Given the description of an element on the screen output the (x, y) to click on. 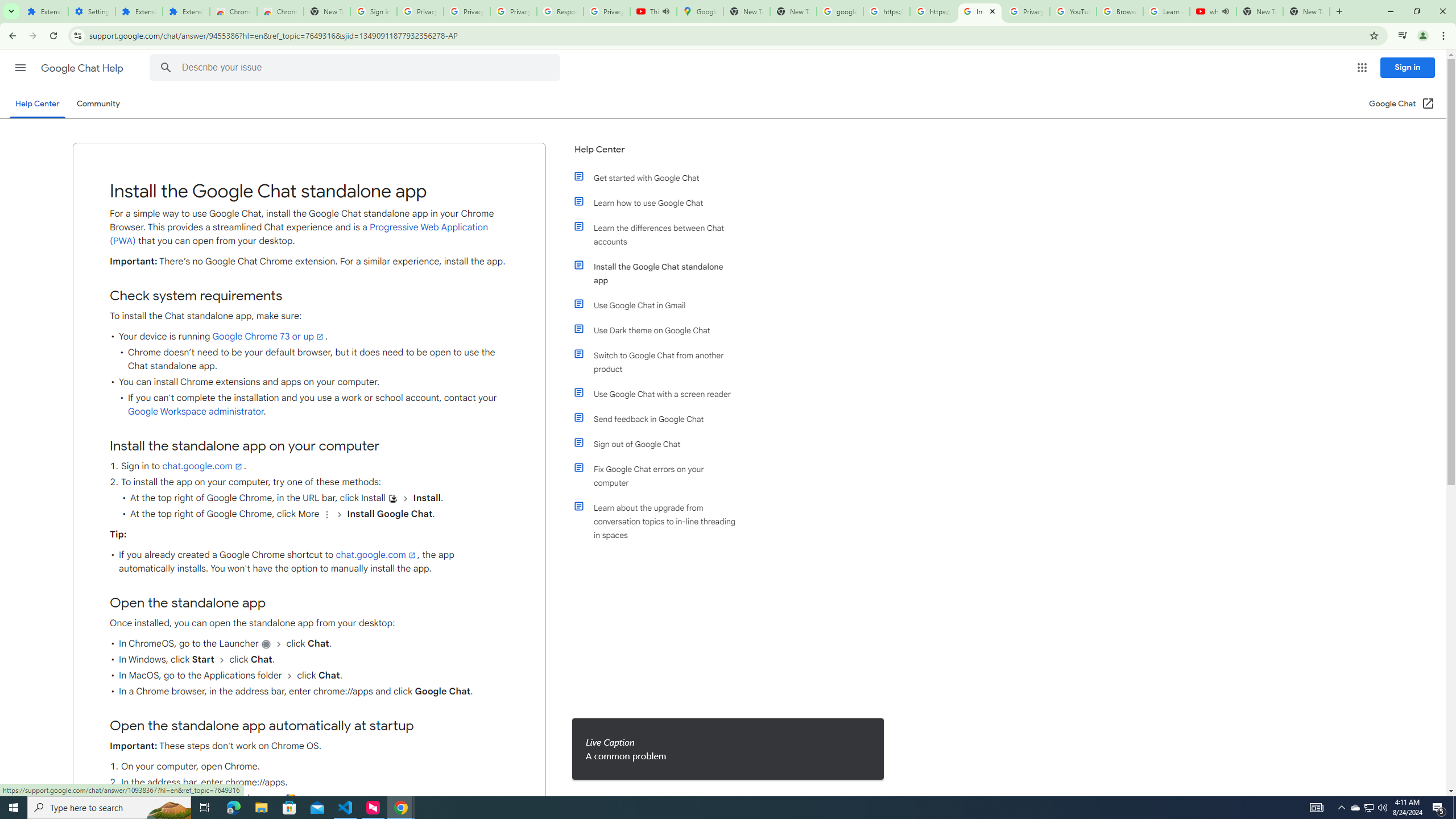
Extensions (44, 11)
Install the Google Chat standalone app - Google Chat Help (980, 11)
Use Google Chat in Gmail (661, 305)
Describe your issue (356, 67)
